Given the description of an element on the screen output the (x, y) to click on. 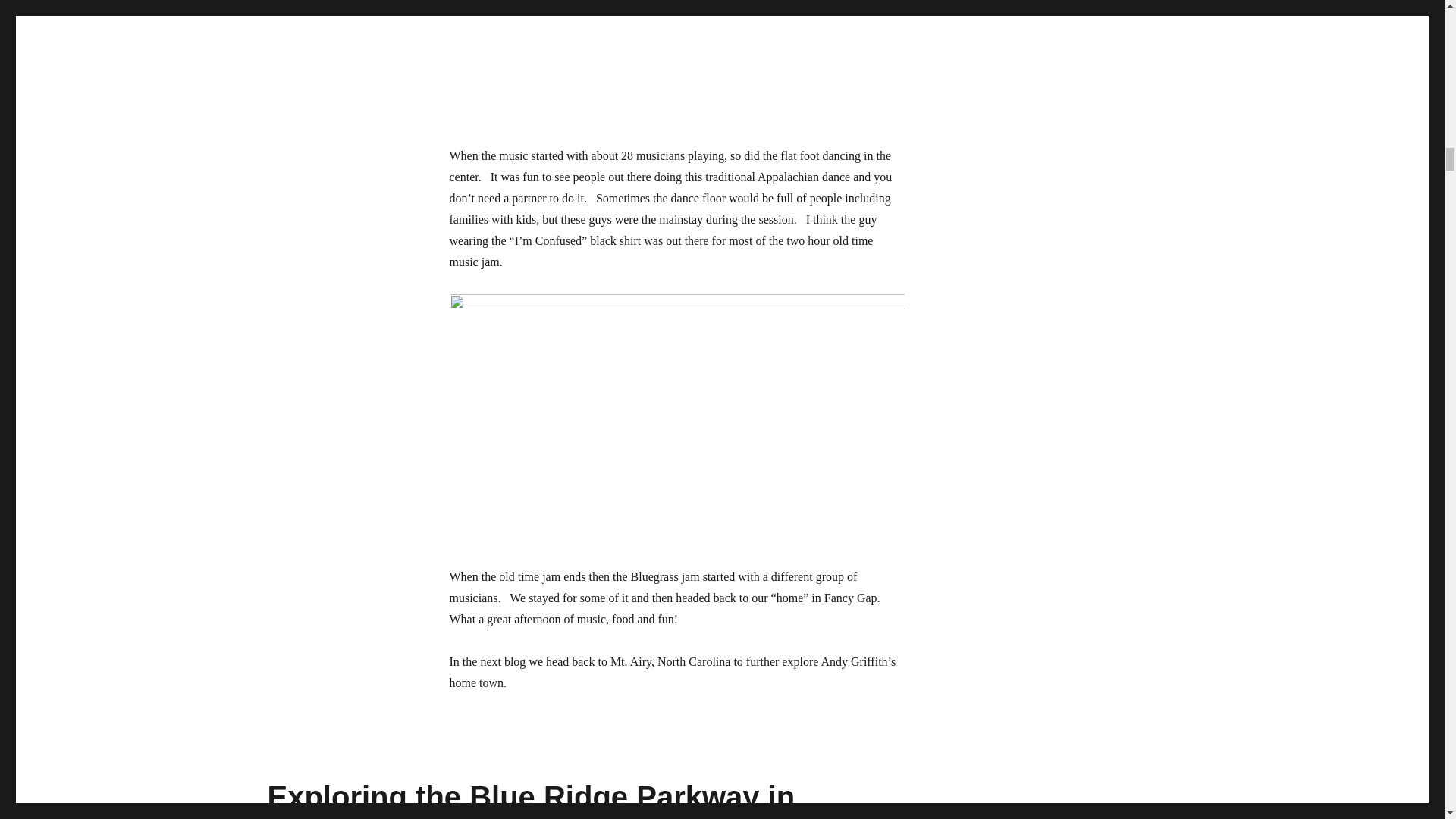
Exploring the Blue Ridge Parkway in Virginia (530, 799)
